Given the description of an element on the screen output the (x, y) to click on. 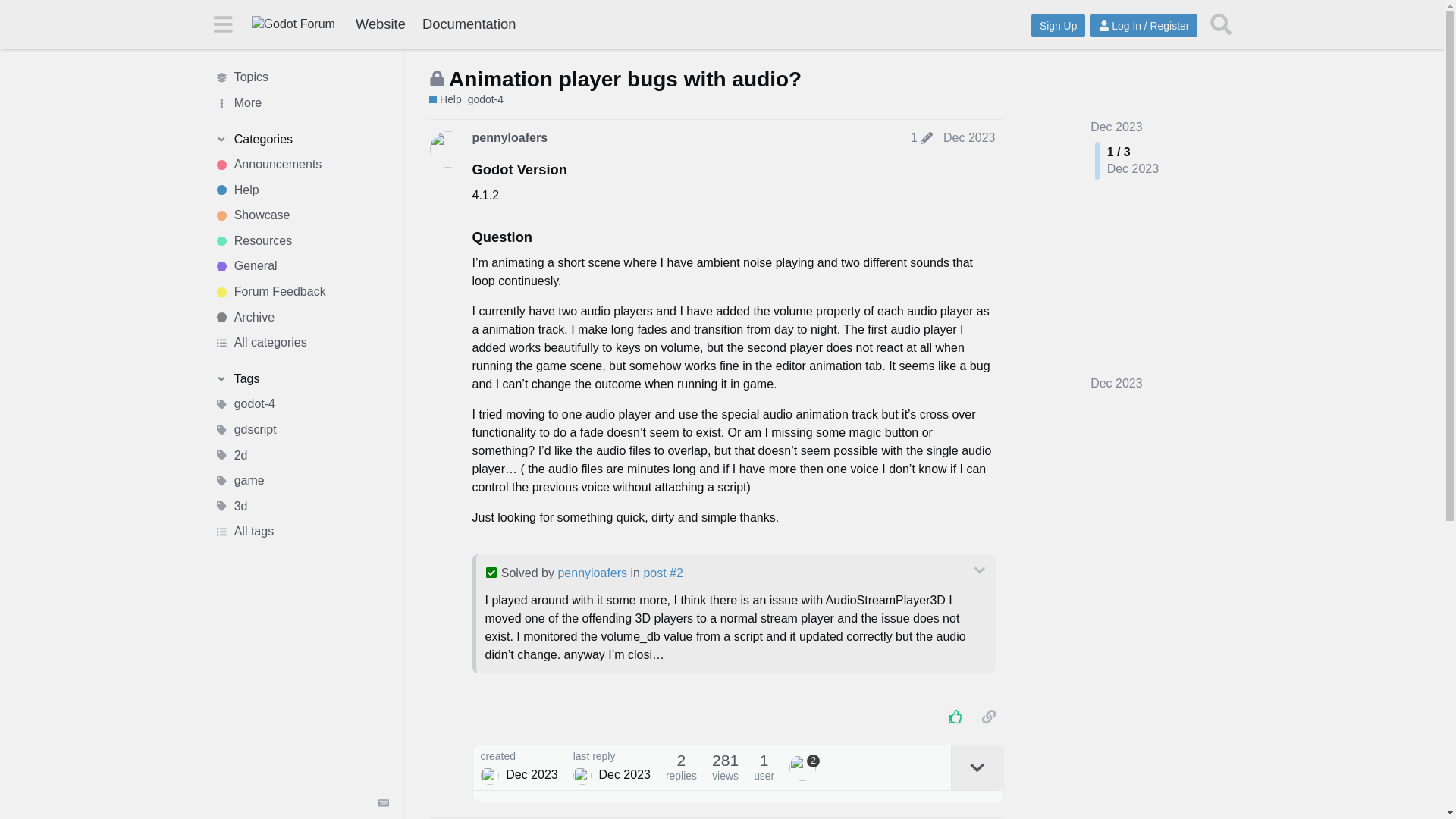
Documentation (468, 23)
Tags (301, 379)
Announcements (301, 164)
pennyloafers (509, 137)
Sidebar (222, 23)
Toggle section (301, 379)
Dec 2023 (1116, 126)
All tags (301, 532)
1 (921, 137)
